Given the description of an element on the screen output the (x, y) to click on. 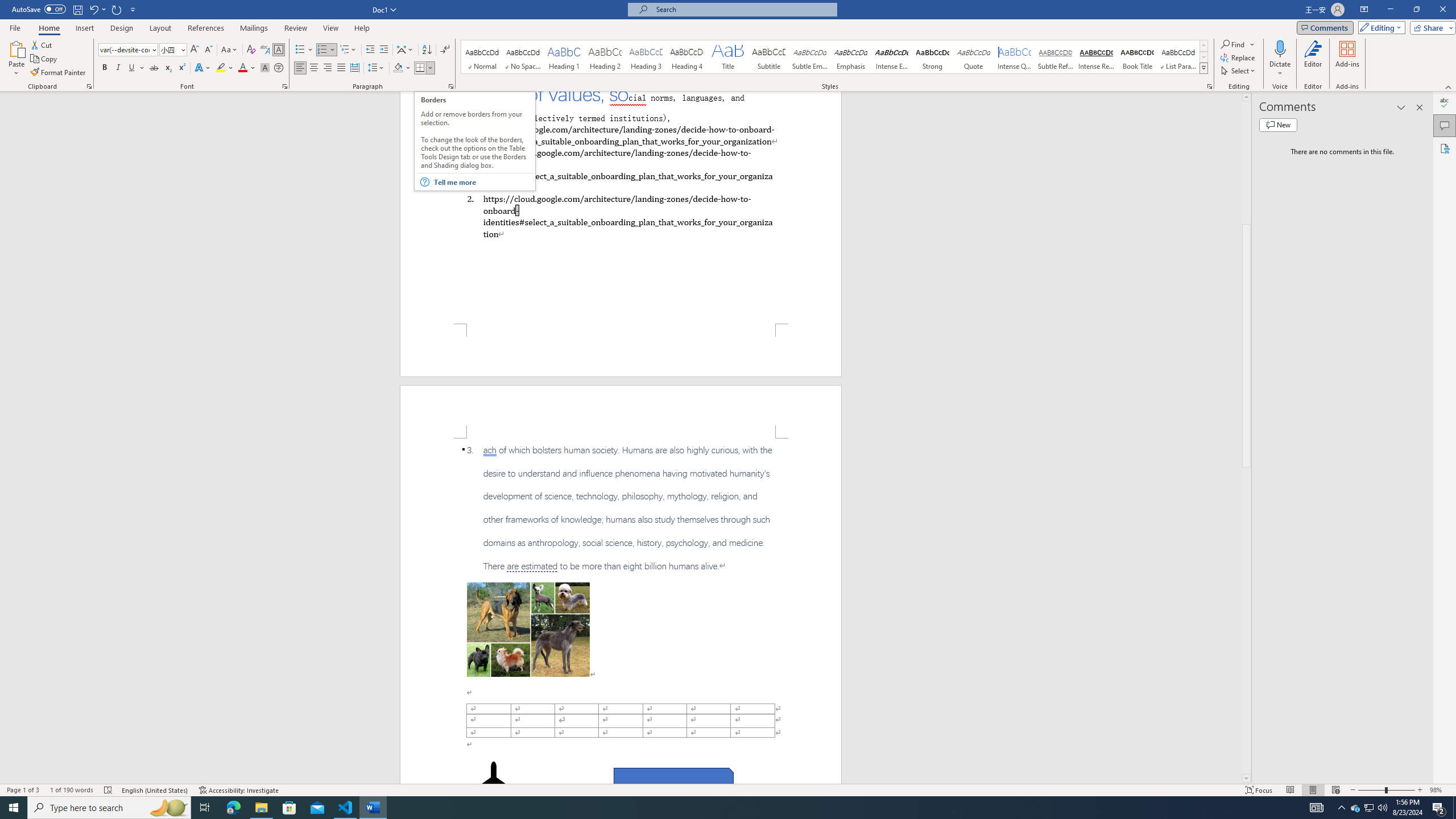
Strong (932, 56)
Page Number Page 1 of 3 (22, 790)
AutomationID: QuickStylesGallery (834, 56)
